Given the description of an element on the screen output the (x, y) to click on. 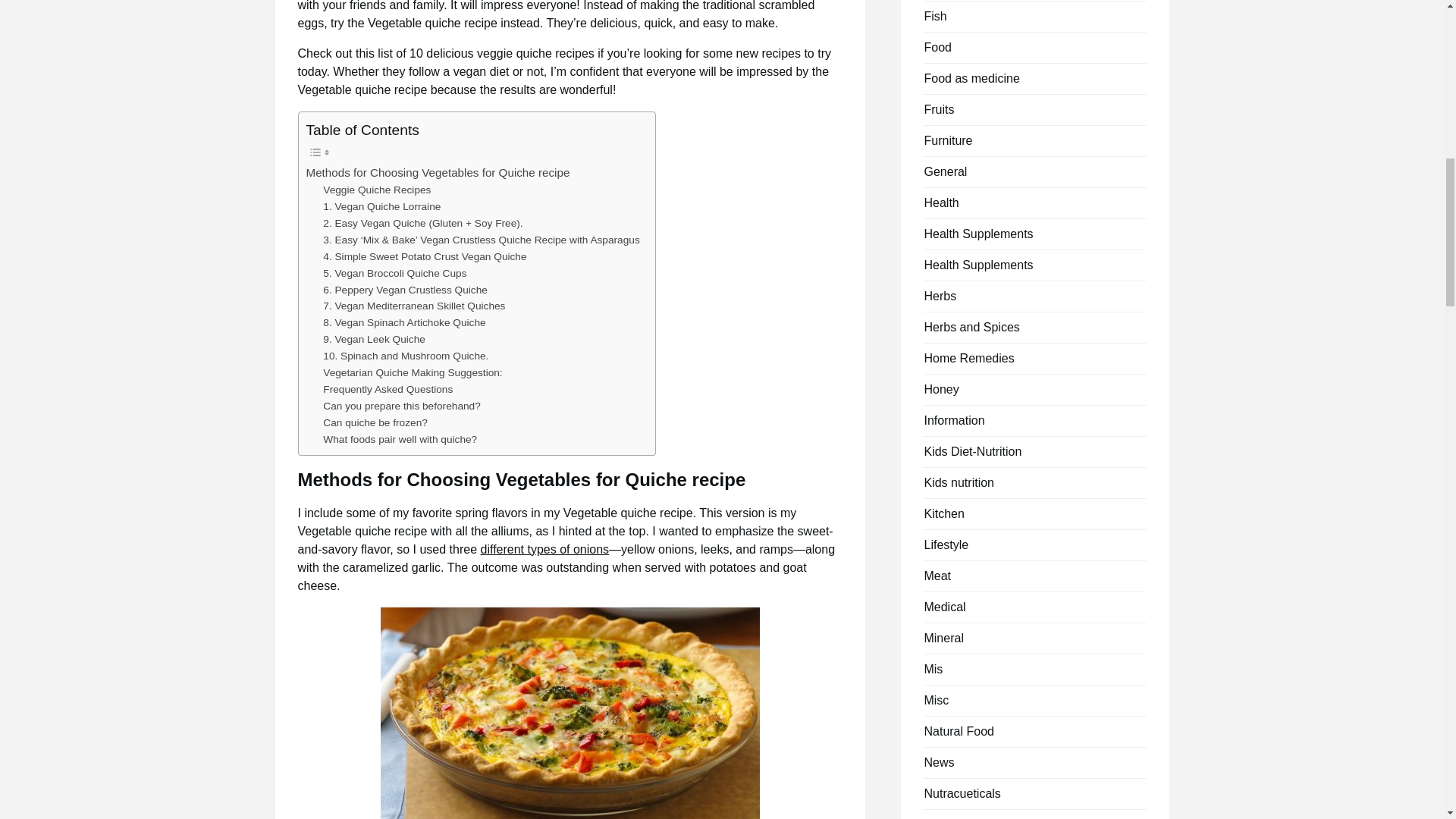
Methods for Choosing Vegetables for Quiche recipe (437, 172)
Vegetarian Quiche Making Suggestion: (412, 372)
Can quiche be frozen? (375, 422)
10. Spinach and Mushroom Quiche. (405, 356)
1. Vegan Quiche Lorraine (382, 207)
9. Vegan Leek Quiche (374, 339)
10. Spinach and Mushroom Quiche. (405, 356)
4. Simple Sweet Potato Crust Vegan Quiche (424, 256)
7. Vegan Mediterranean Skillet Quiches (414, 306)
Veggie Quiche Recipes (376, 190)
8. Vegan Spinach Artichoke Quiche (403, 322)
7. Vegan Mediterranean Skillet Quiches (414, 306)
Vegetarian Quiche Making Suggestion: (412, 372)
Can you prepare this beforehand? (401, 406)
Can quiche be frozen? (375, 422)
